Given the description of an element on the screen output the (x, y) to click on. 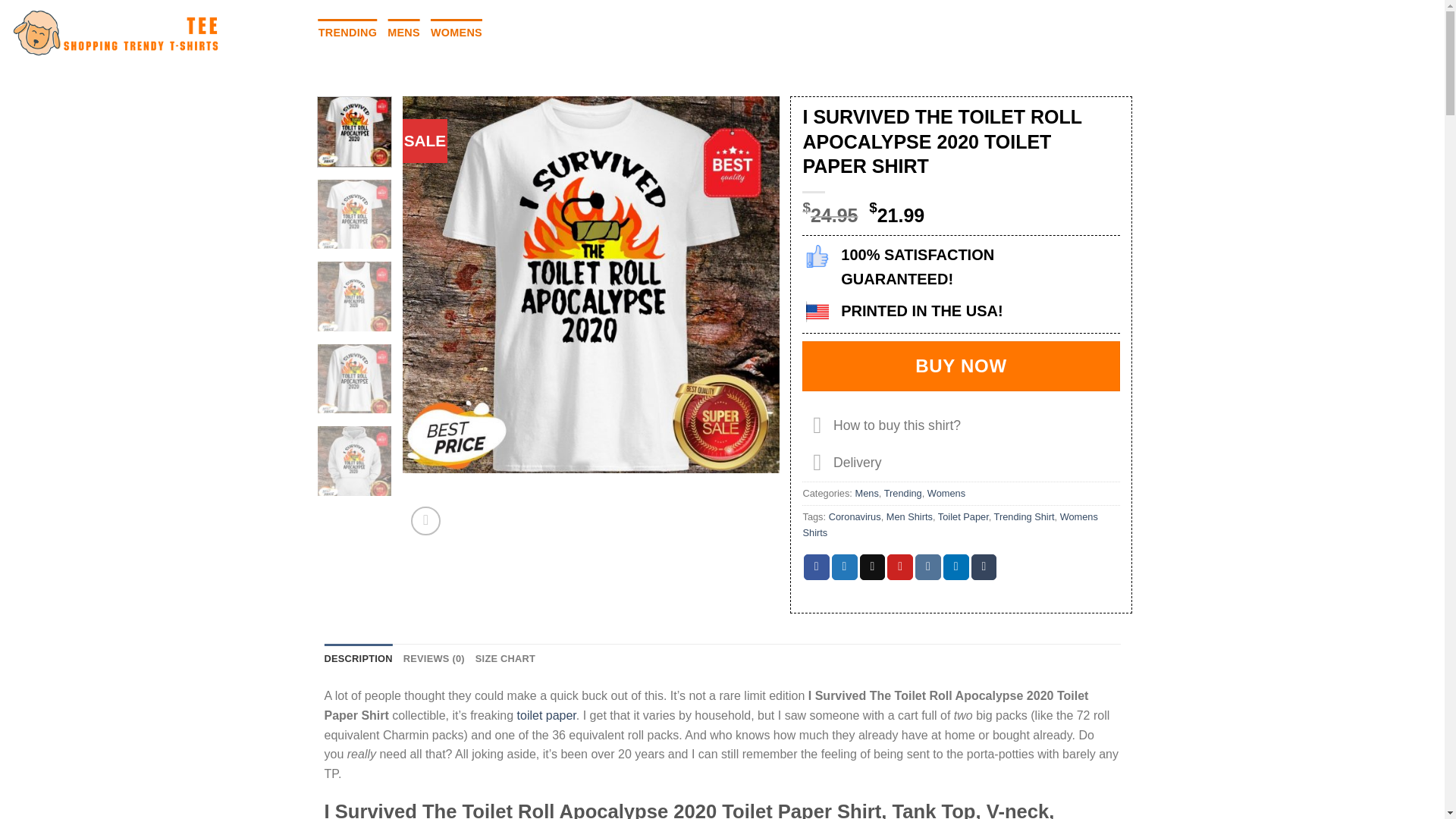
Zoom (425, 521)
HOME (290, 31)
Share on LinkedIn (956, 566)
Share on VKontakte (927, 566)
CONTACT US (681, 31)
PET SHIRTS (596, 32)
WOMENS (455, 31)
MENS (403, 31)
Pin on Pinterest (899, 566)
Email to a Friend (872, 566)
Share on Facebook (816, 566)
HOLIDAY (521, 32)
TRENDING (347, 31)
Share on Twitter (844, 566)
